Given the description of an element on the screen output the (x, y) to click on. 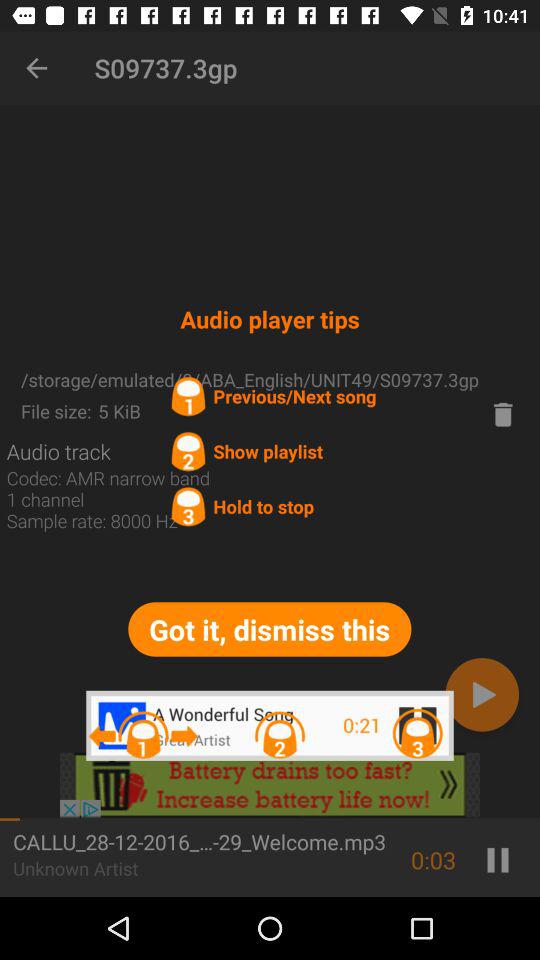
advance button (482, 694)
